Given the description of an element on the screen output the (x, y) to click on. 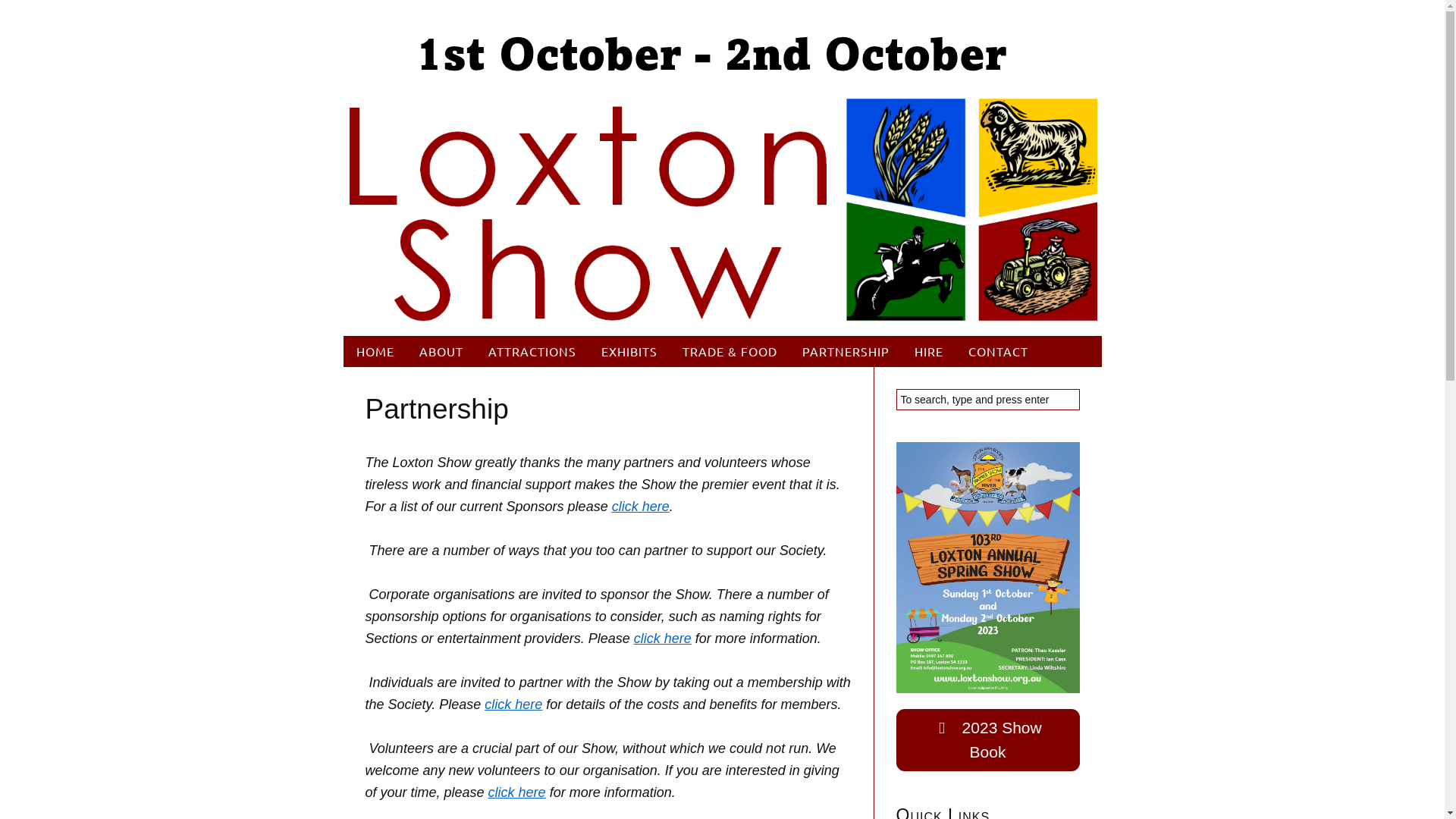
click here Element type: text (513, 704)
EXHIBITS Element type: text (628, 351)
click here Element type: text (517, 792)
CONTACT Element type: text (997, 351)
HIRE Element type: text (929, 351)
click here Element type: text (640, 506)
click here Element type: text (662, 638)
ABOUT Element type: text (440, 351)
HOME Element type: text (375, 351)
ATTRACTIONS Element type: text (532, 351)
TRADE & FOOD Element type: text (730, 351)
2023 Show Book Element type: text (987, 740)
PARTNERSHIP Element type: text (846, 351)
